Given the description of an element on the screen output the (x, y) to click on. 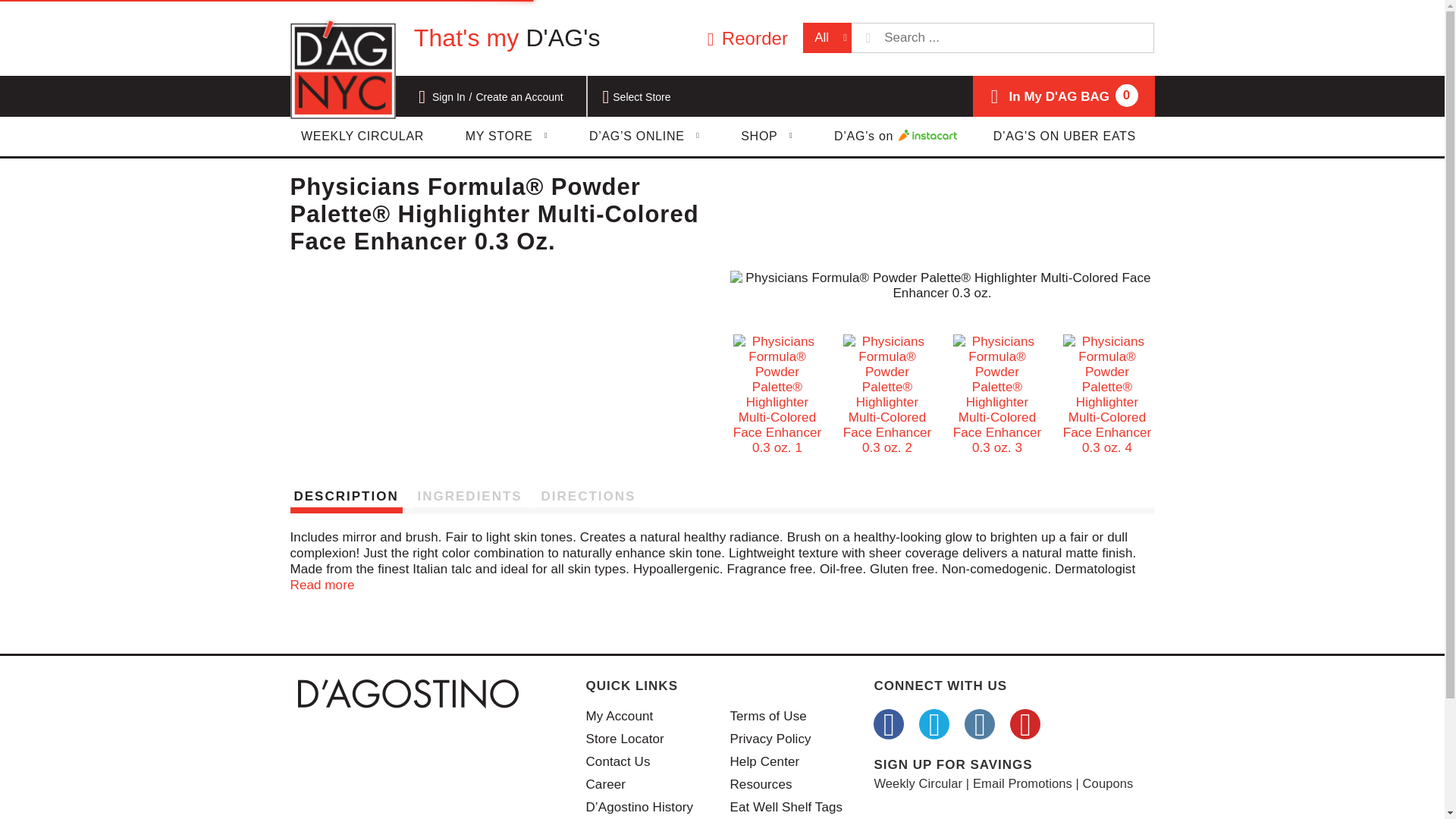
YouTube (1025, 724)
WEEKLY CIRCULAR (362, 136)
Sign In (448, 96)
That's my D'AG's (506, 37)
Select Store  (642, 96)
Select Store (642, 96)
All (827, 37)
Reorder (745, 37)
Reorder (745, 37)
Facebook (1047, 96)
MY STORE (888, 724)
instagram (507, 136)
Twitter (978, 724)
Create an Account (933, 724)
